Given the description of an element on the screen output the (x, y) to click on. 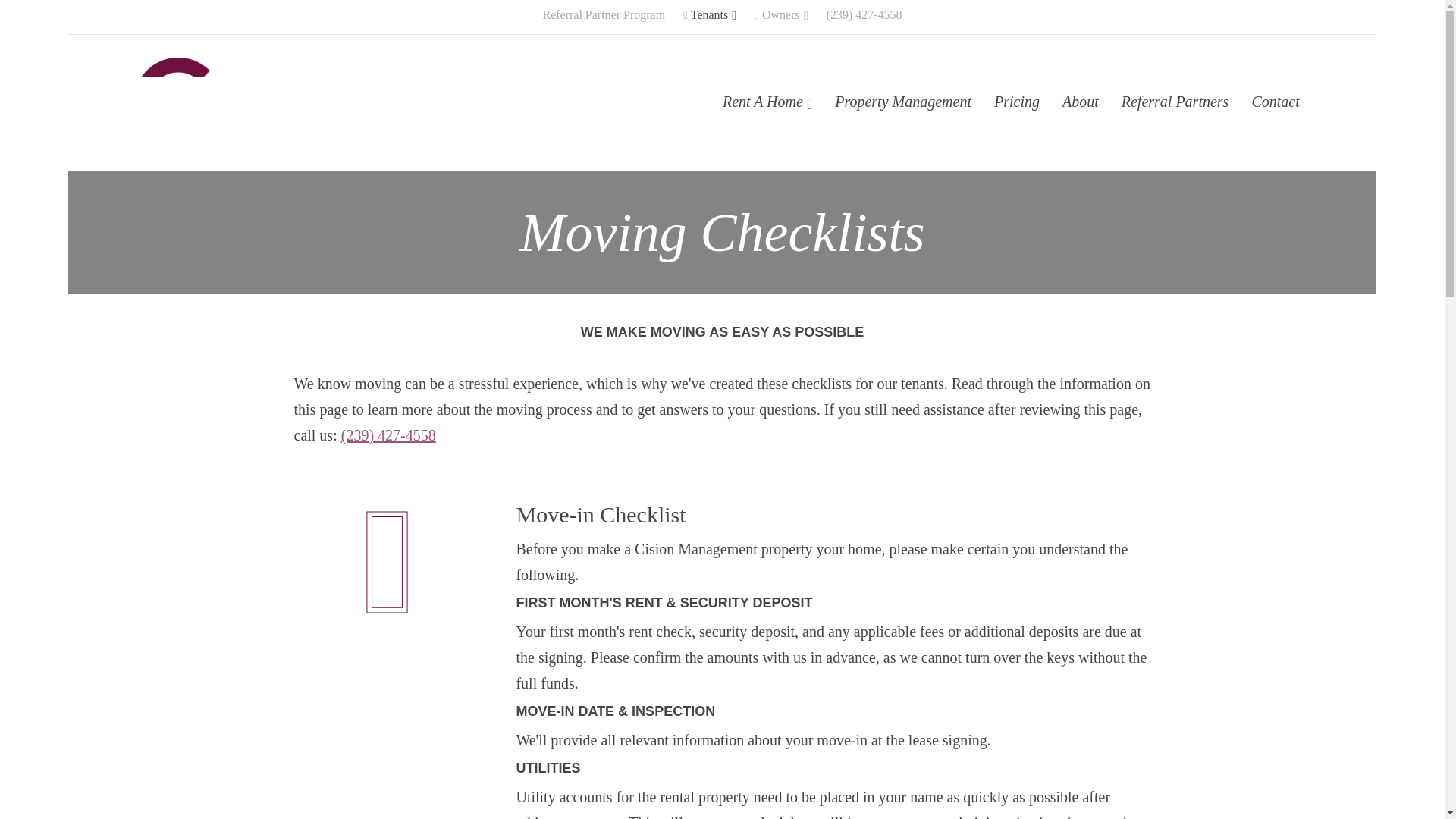
Referral Partner Program (603, 14)
Property Management (903, 101)
Pricing (1016, 101)
Rent A Home (767, 102)
Tenants (709, 15)
Contact (1275, 101)
About (1080, 101)
Referral Partners (1174, 101)
Owners (780, 15)
